Given the description of an element on the screen output the (x, y) to click on. 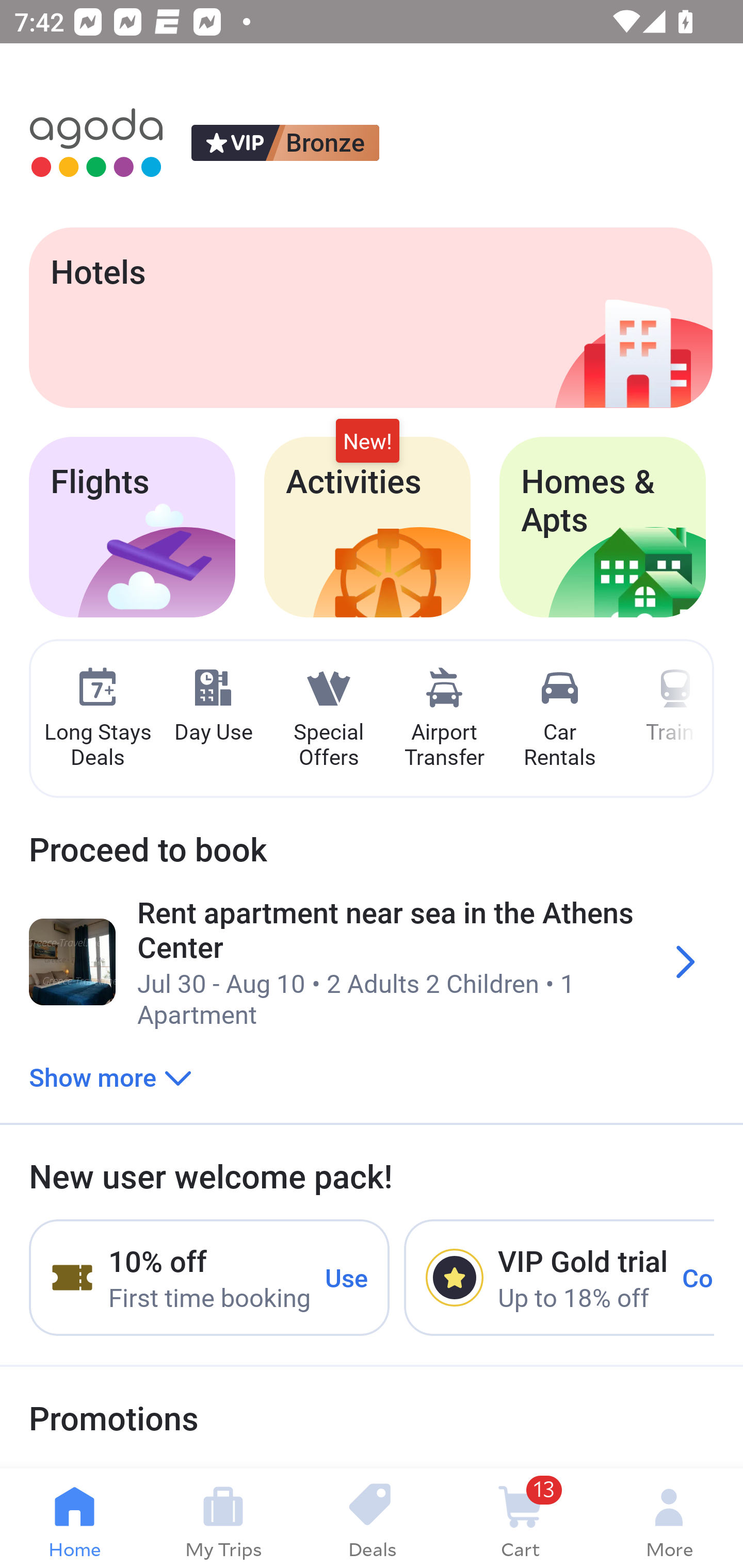
Hotels (370, 317)
New! (367, 441)
Flights (131, 527)
Activities (367, 527)
Homes & Apts (602, 527)
Day Use (213, 706)
Long Stays Deals (97, 718)
Special Offers (328, 718)
Airport Transfer (444, 718)
Car Rentals (559, 718)
Show more (110, 1076)
Use (346, 1277)
Home (74, 1518)
My Trips (222, 1518)
Deals (371, 1518)
13 Cart (519, 1518)
More (668, 1518)
